Given the description of an element on the screen output the (x, y) to click on. 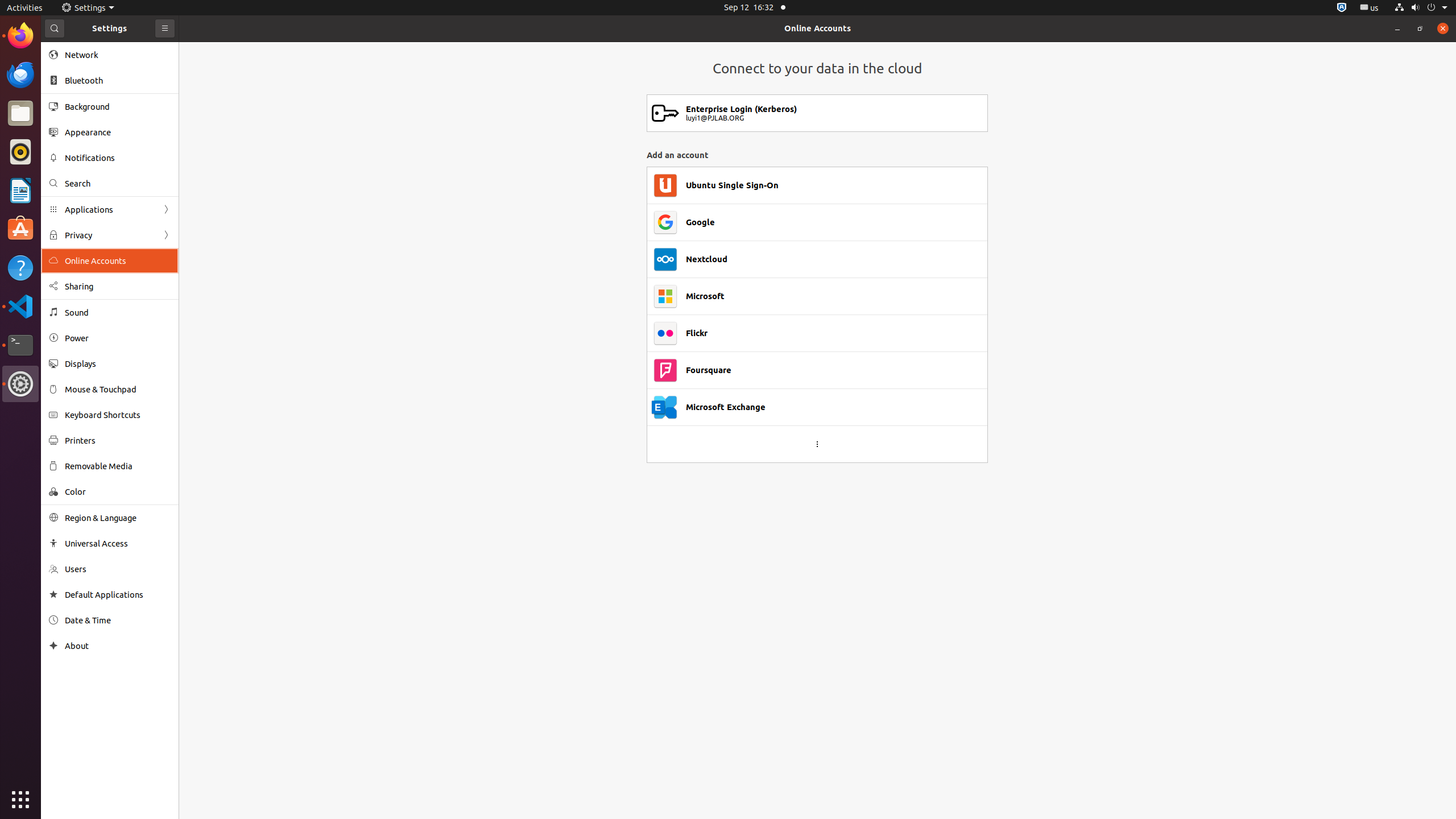
Printers Element type: label (117, 440)
Search Element type: label (117, 183)
Settings Element type: push-button (20, 383)
About Element type: label (117, 645)
Trash Element type: label (75, 108)
